Given the description of an element on the screen output the (x, y) to click on. 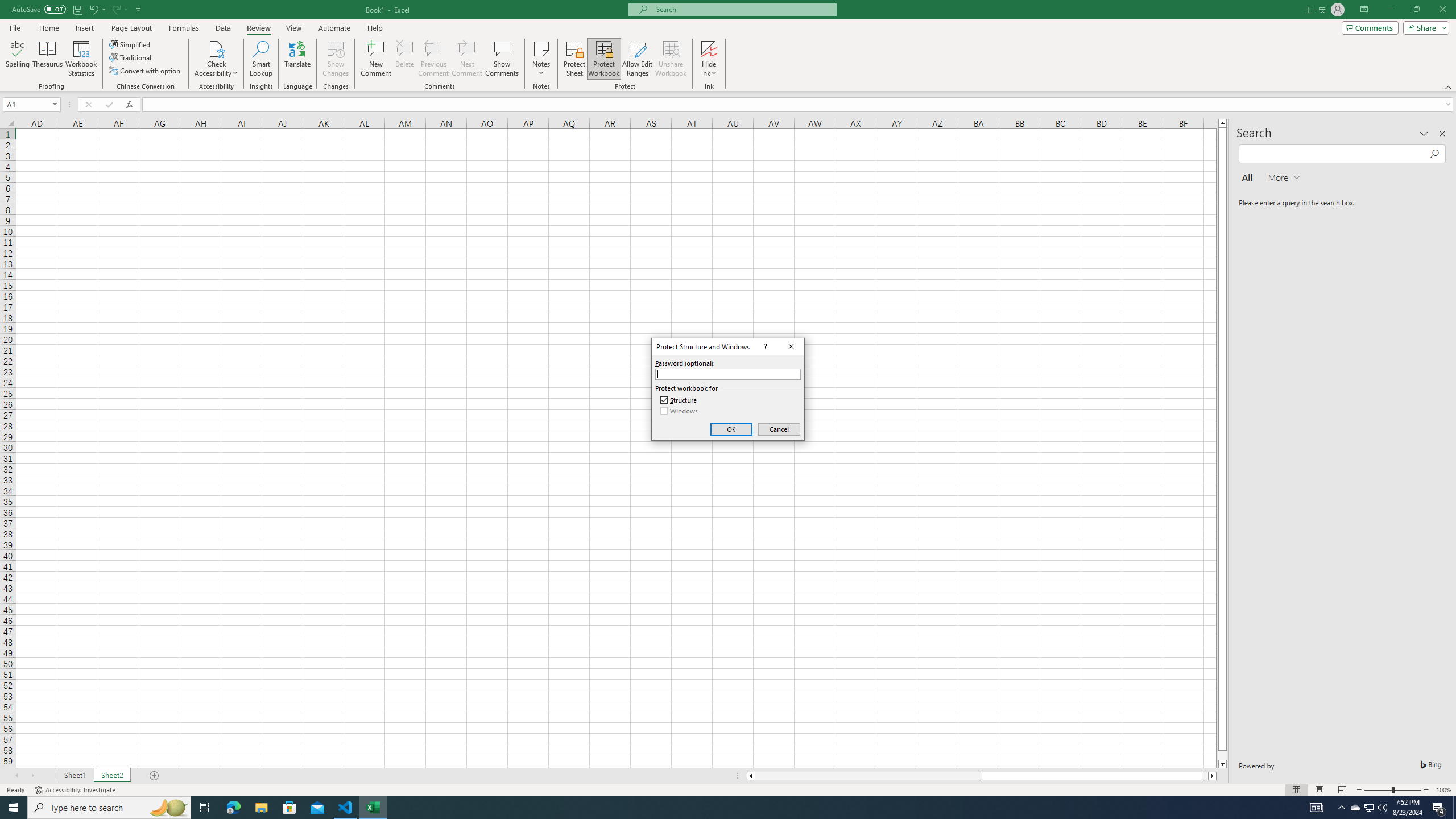
Check Accessibility (215, 58)
Thesaurus... (47, 58)
Task Pane Options (1423, 133)
Q2790: 100% (1382, 807)
Search highlights icon opens search home window (167, 807)
Password (optional): (727, 374)
